Given the description of an element on the screen output the (x, y) to click on. 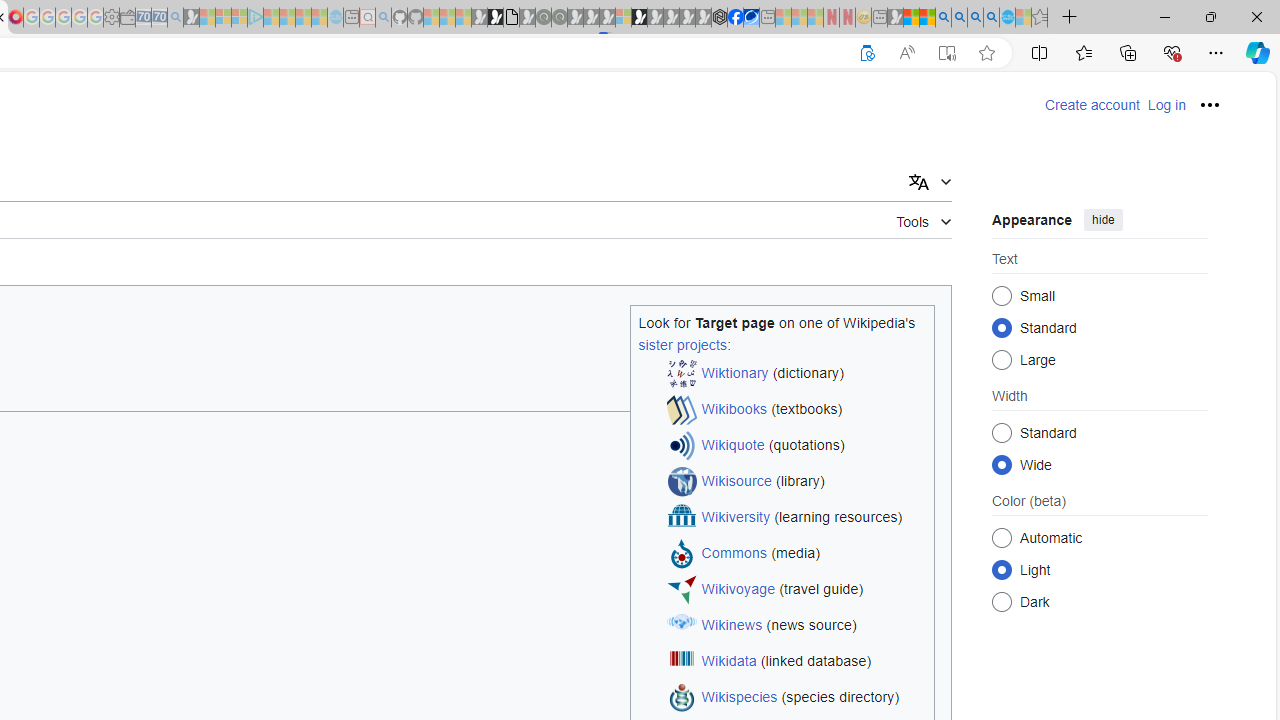
Wiktionary (735, 373)
Future Focus Report 2024 - Sleeping (559, 17)
AirNow.gov (751, 17)
Bing AI - Search (943, 17)
Wide (1002, 464)
hide (1103, 219)
Wikiquote (quotations) (796, 446)
Settings - Sleeping (111, 17)
